Given the description of an element on the screen output the (x, y) to click on. 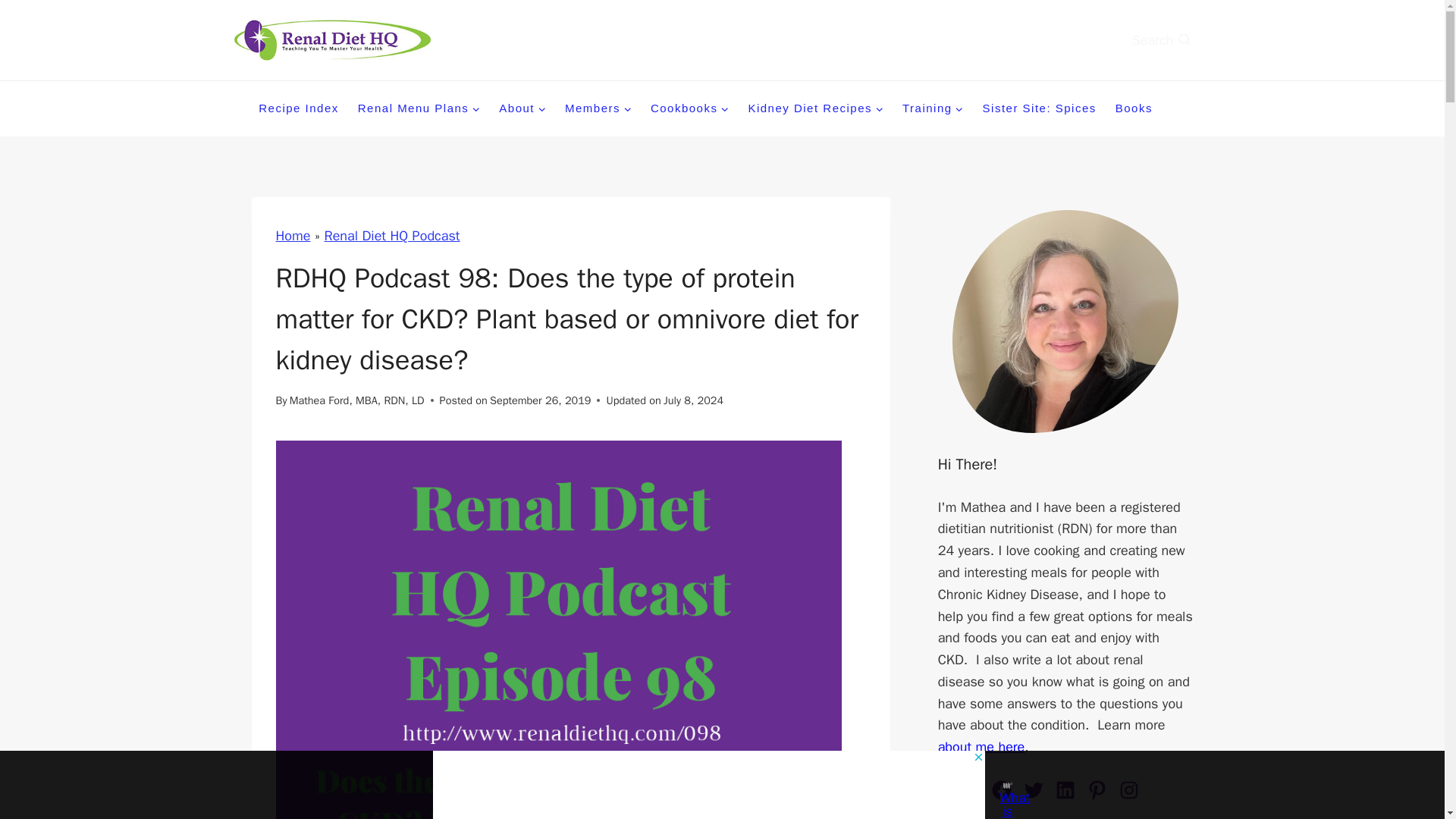
Kidney Diet Recipes (816, 108)
Recipe Index (298, 108)
About (522, 108)
Sister Site: Spices (1039, 108)
Training (933, 108)
3rd party ad content (708, 785)
Cookbooks (689, 108)
Books (1134, 108)
Home (293, 235)
Renal Menu Plans (418, 108)
Members (598, 108)
Search (1171, 40)
